Given the description of an element on the screen output the (x, y) to click on. 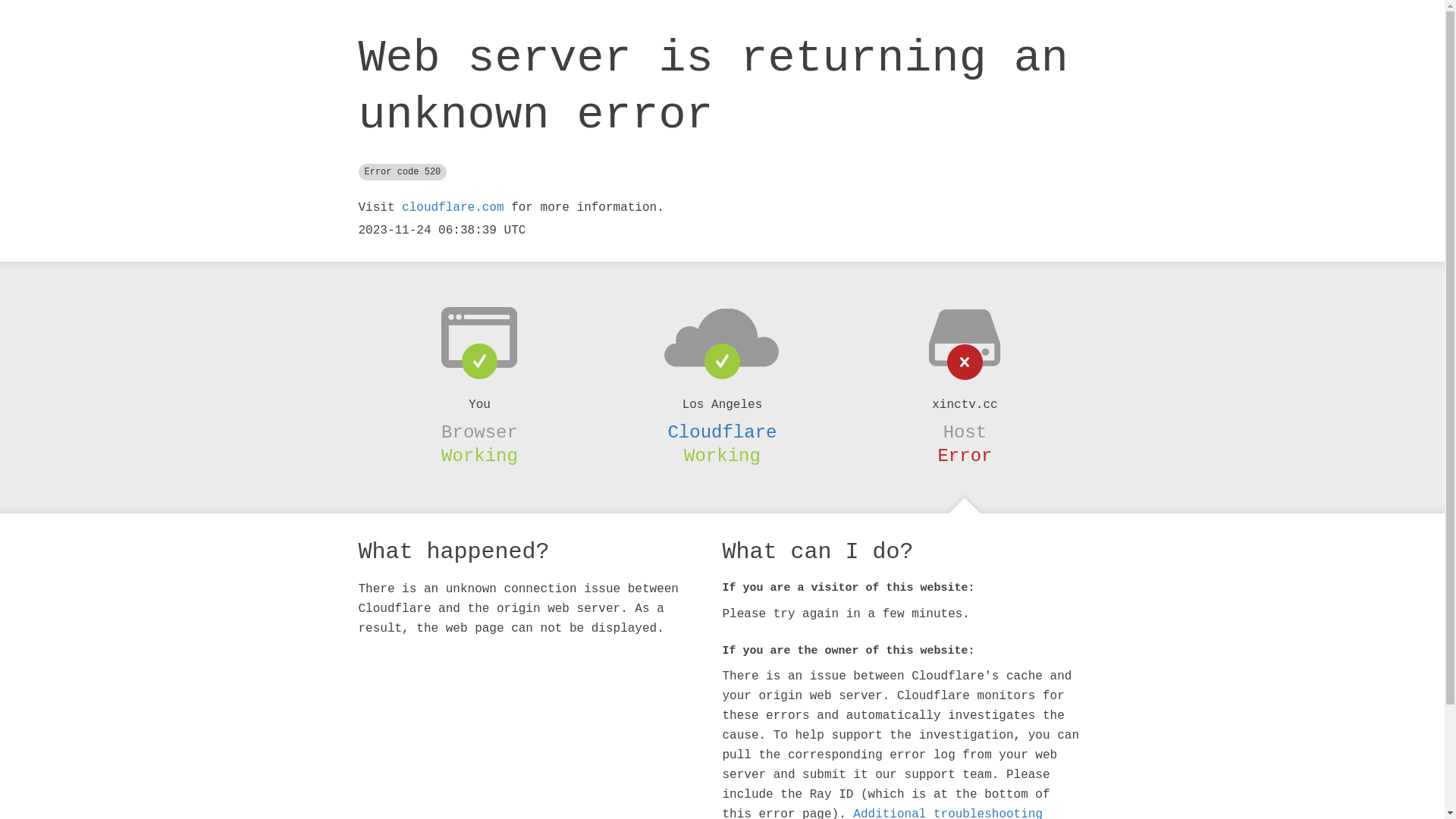
cloudflare.com Element type: text (452, 207)
Cloudflare Element type: text (721, 432)
